Given the description of an element on the screen output the (x, y) to click on. 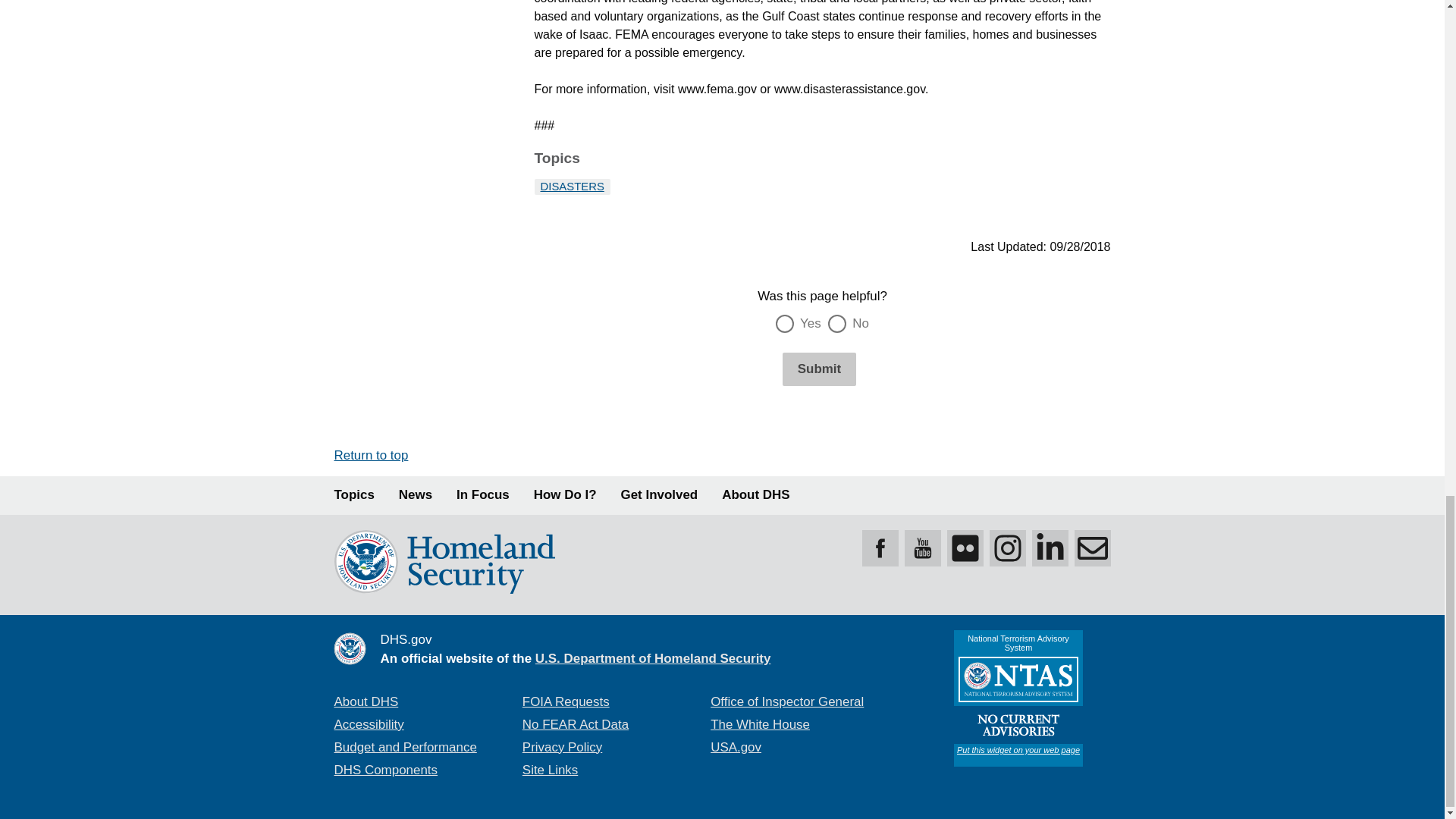
Office of the Inspector General (786, 701)
DHS Components (385, 769)
The White House (759, 724)
Submit (819, 368)
National Terrorism Advisory System (1018, 697)
USA.gov (735, 747)
Submit (819, 368)
Get Involved (659, 495)
Topics (353, 495)
